Given the description of an element on the screen output the (x, y) to click on. 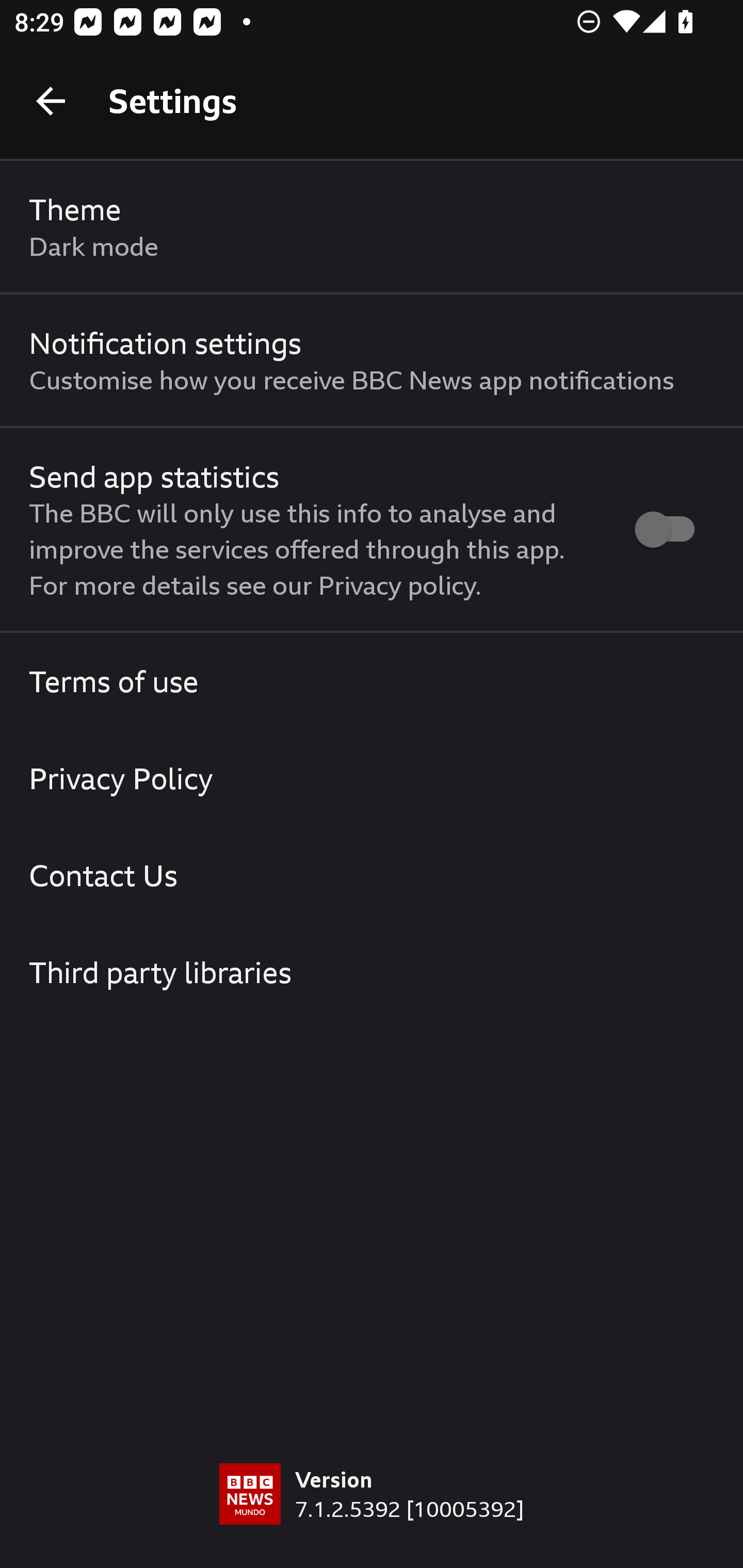
Back (50, 101)
Theme Dark mode (371, 227)
Terms of use (371, 681)
Privacy Policy (371, 777)
Contact Us (371, 874)
Third party libraries (371, 971)
Version 7.1.2.5392 [10005392] (371, 1515)
